Given the description of an element on the screen output the (x, y) to click on. 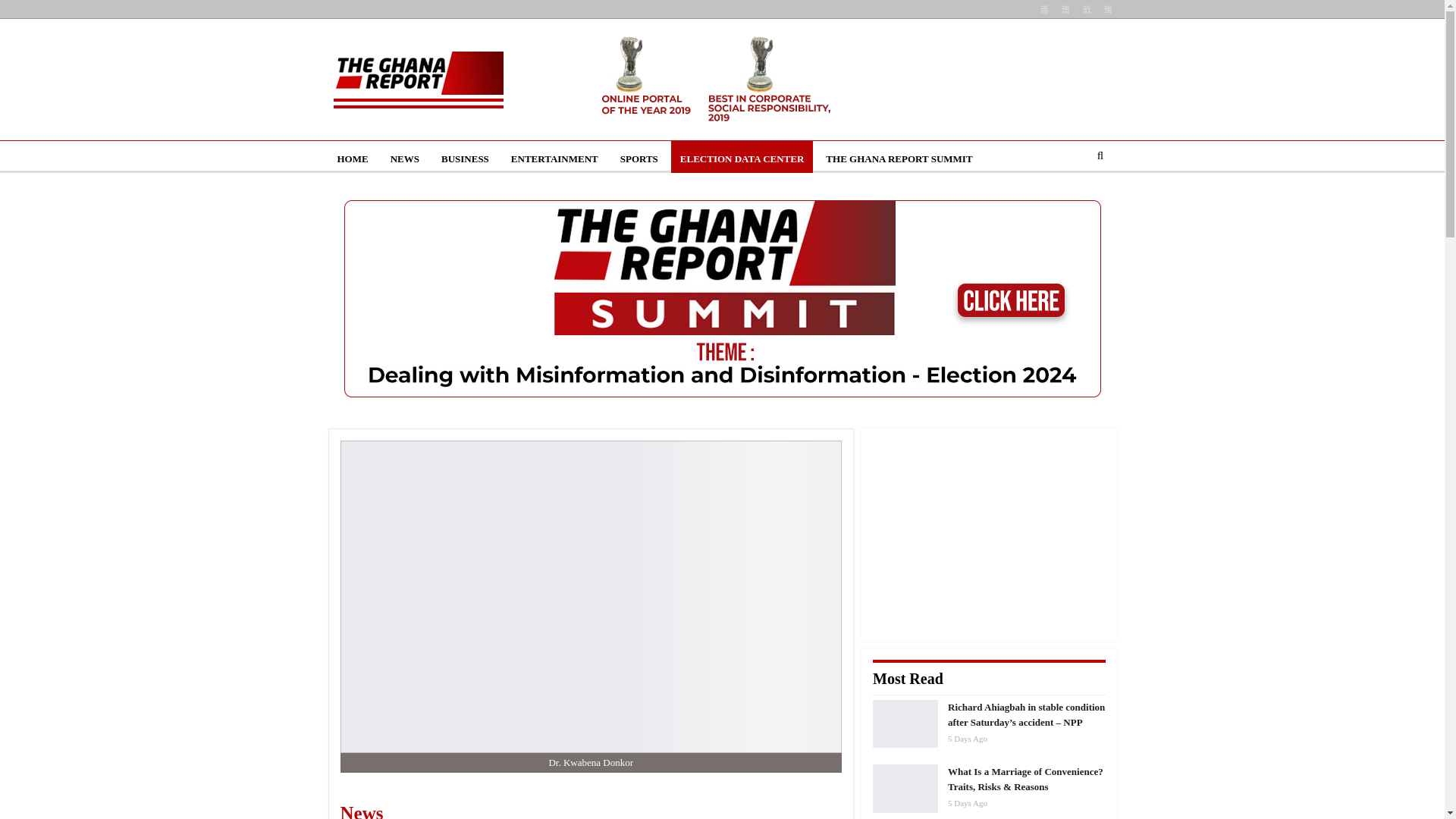
News (453, 808)
SPORTS (638, 158)
BUSINESS (464, 158)
ENTERTAINMENT (554, 158)
HOME (352, 158)
THE GHANA REPORT SUMMIT (898, 158)
ELECTION DATA CENTER (742, 158)
NEWS (404, 158)
